Given the description of an element on the screen output the (x, y) to click on. 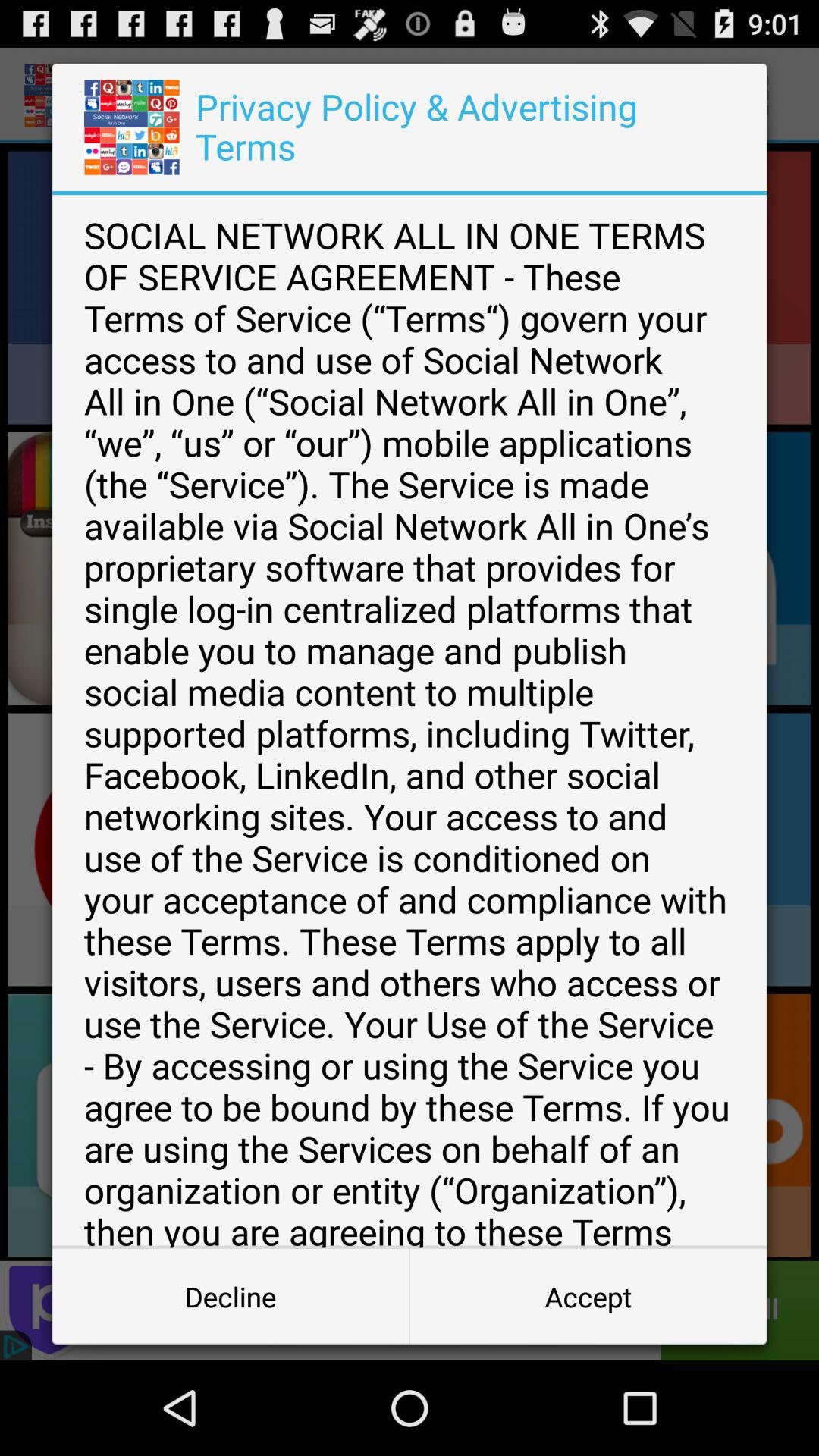
launch accept button (588, 1296)
